Given the description of an element on the screen output the (x, y) to click on. 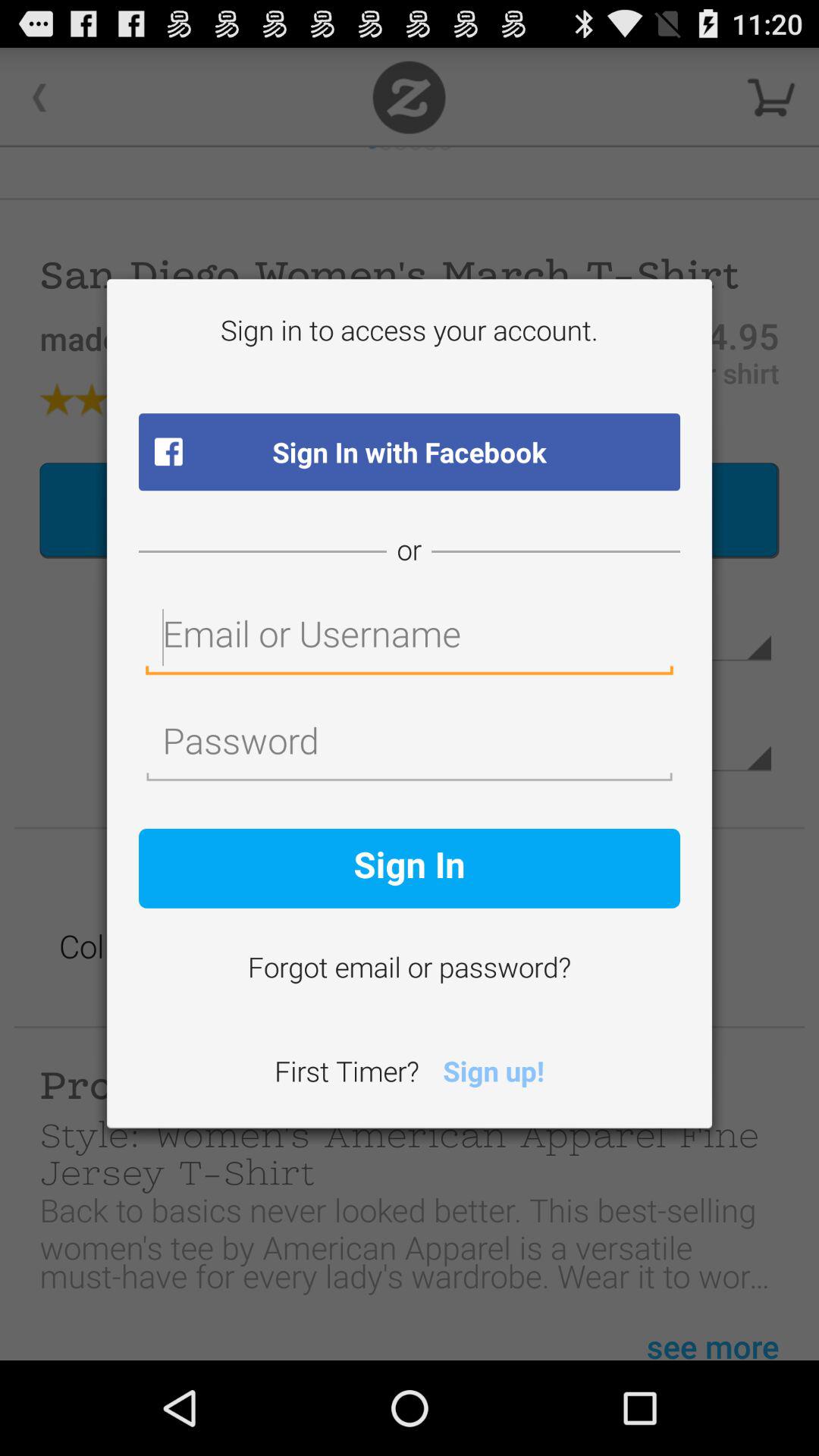
enter password field (409, 744)
